Given the description of an element on the screen output the (x, y) to click on. 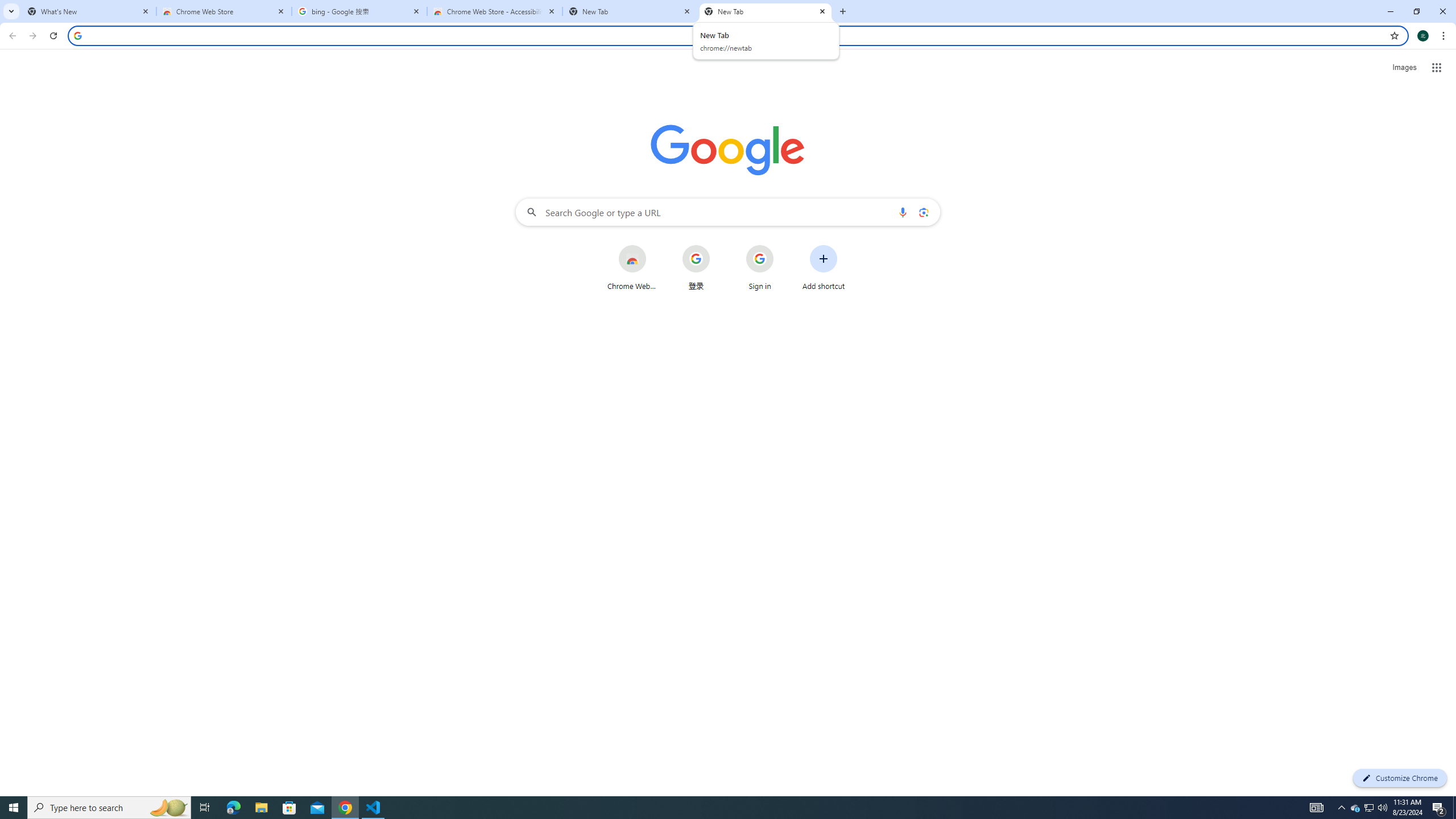
Search icon (77, 35)
Chrome Web Store (631, 267)
Address and search bar (735, 35)
Search by image (922, 212)
Chrome Web Store - Accessibility (494, 11)
Search for Images  (1403, 67)
